Given the description of an element on the screen output the (x, y) to click on. 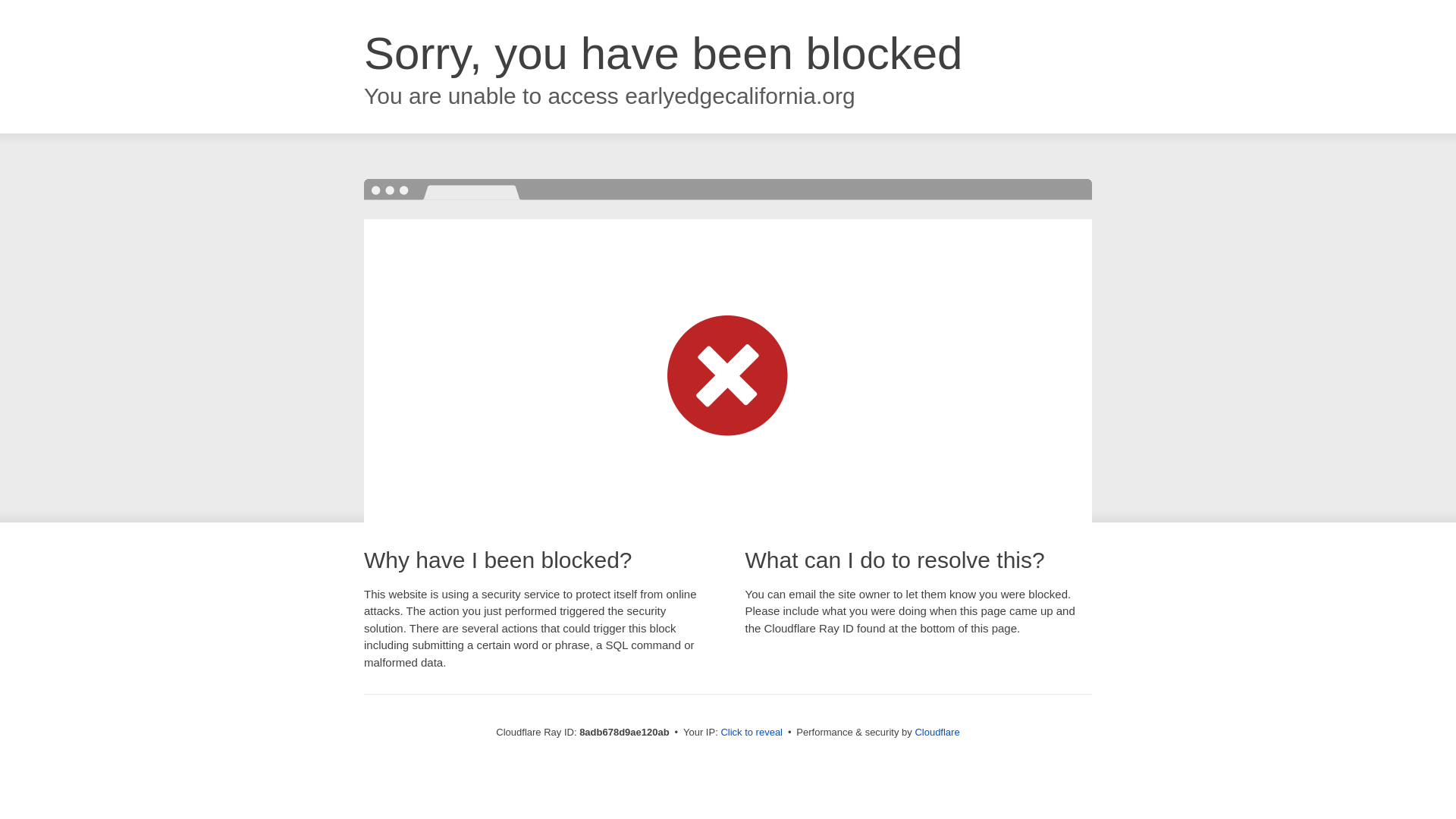
Cloudflare (936, 731)
Click to reveal (751, 732)
